Given the description of an element on the screen output the (x, y) to click on. 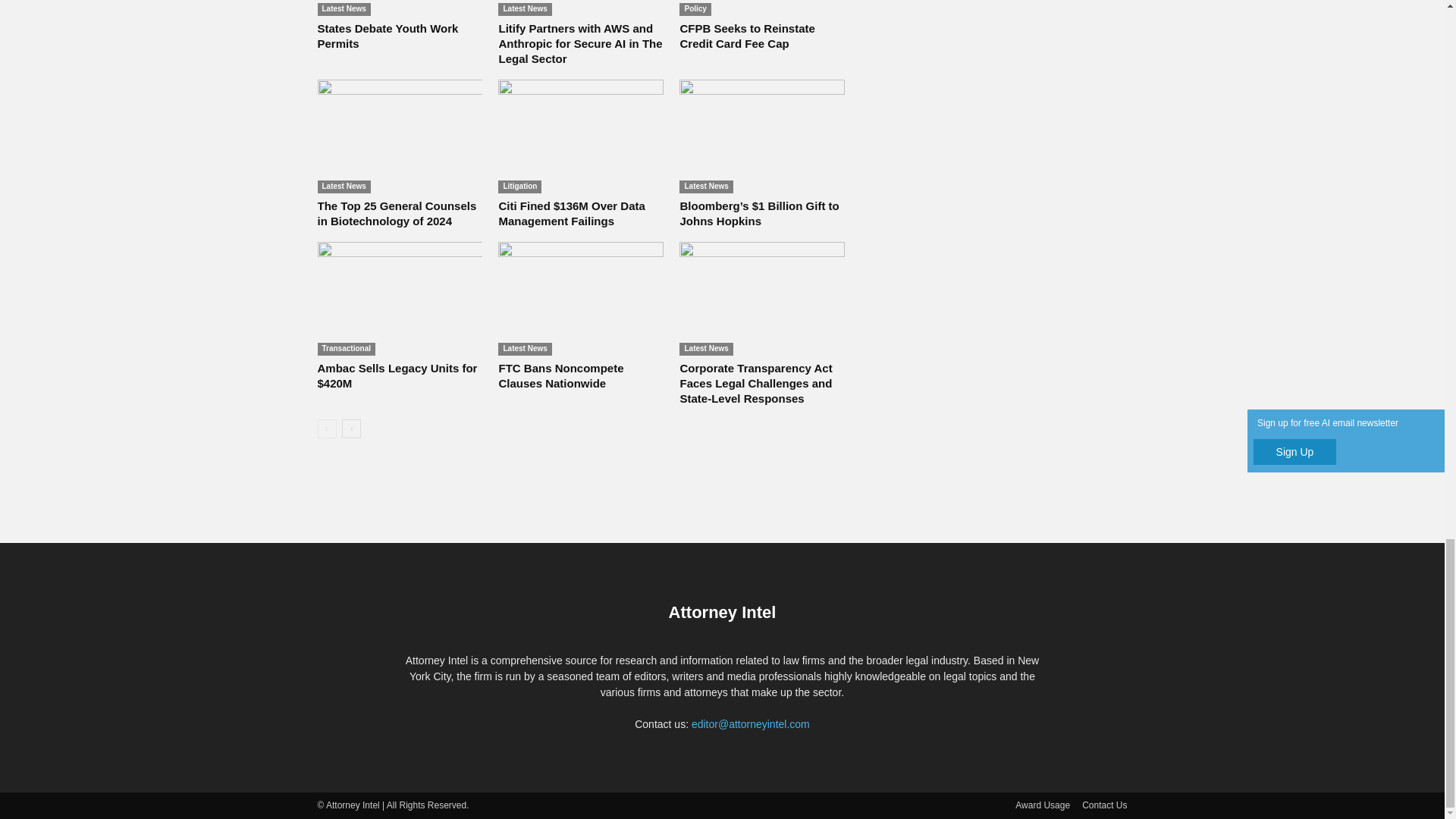
States Debate Youth Work Permits (387, 35)
States Debate Youth Work Permits (399, 7)
